Given the description of an element on the screen output the (x, y) to click on. 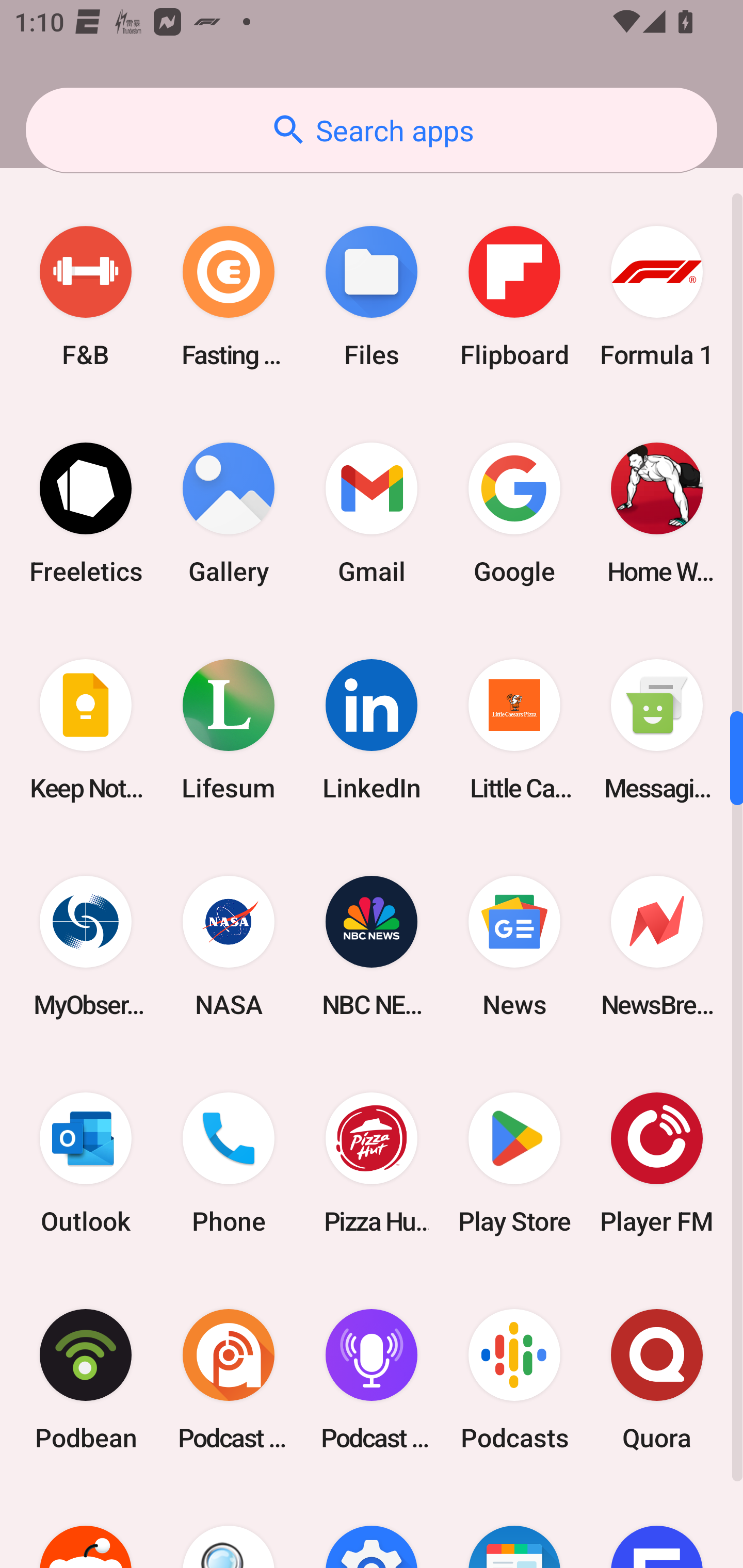
  Search apps (371, 130)
F&B (85, 296)
Fasting Coach (228, 296)
Files (371, 296)
Flipboard (514, 296)
Formula 1 (656, 296)
Freeletics (85, 512)
Gallery (228, 512)
Gmail (371, 512)
Google (514, 512)
Home Workout (656, 512)
Keep Notes (85, 729)
Lifesum (228, 729)
LinkedIn (371, 729)
Little Caesars Pizza (514, 729)
Messaging (656, 729)
MyObservatory (85, 946)
NASA (228, 946)
NBC NEWS (371, 946)
News (514, 946)
NewsBreak (656, 946)
Outlook (85, 1163)
Phone (228, 1163)
Pizza Hut HK & Macau (371, 1163)
Play Store (514, 1163)
Player FM (656, 1163)
Podbean (85, 1379)
Podcast Addict (228, 1379)
Podcast Player (371, 1379)
Podcasts (514, 1379)
Quora (656, 1379)
